Given the description of an element on the screen output the (x, y) to click on. 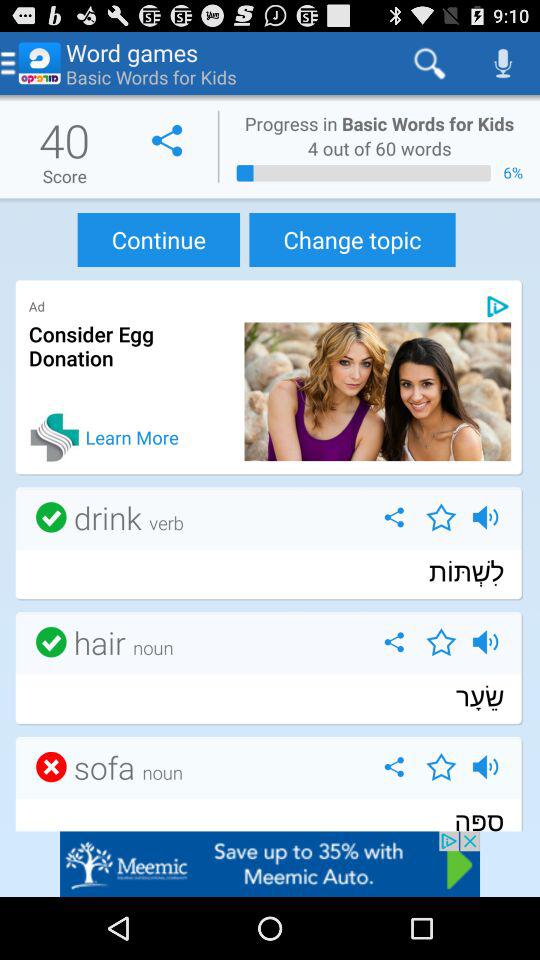
open advertisement (270, 864)
